Given the description of an element on the screen output the (x, y) to click on. 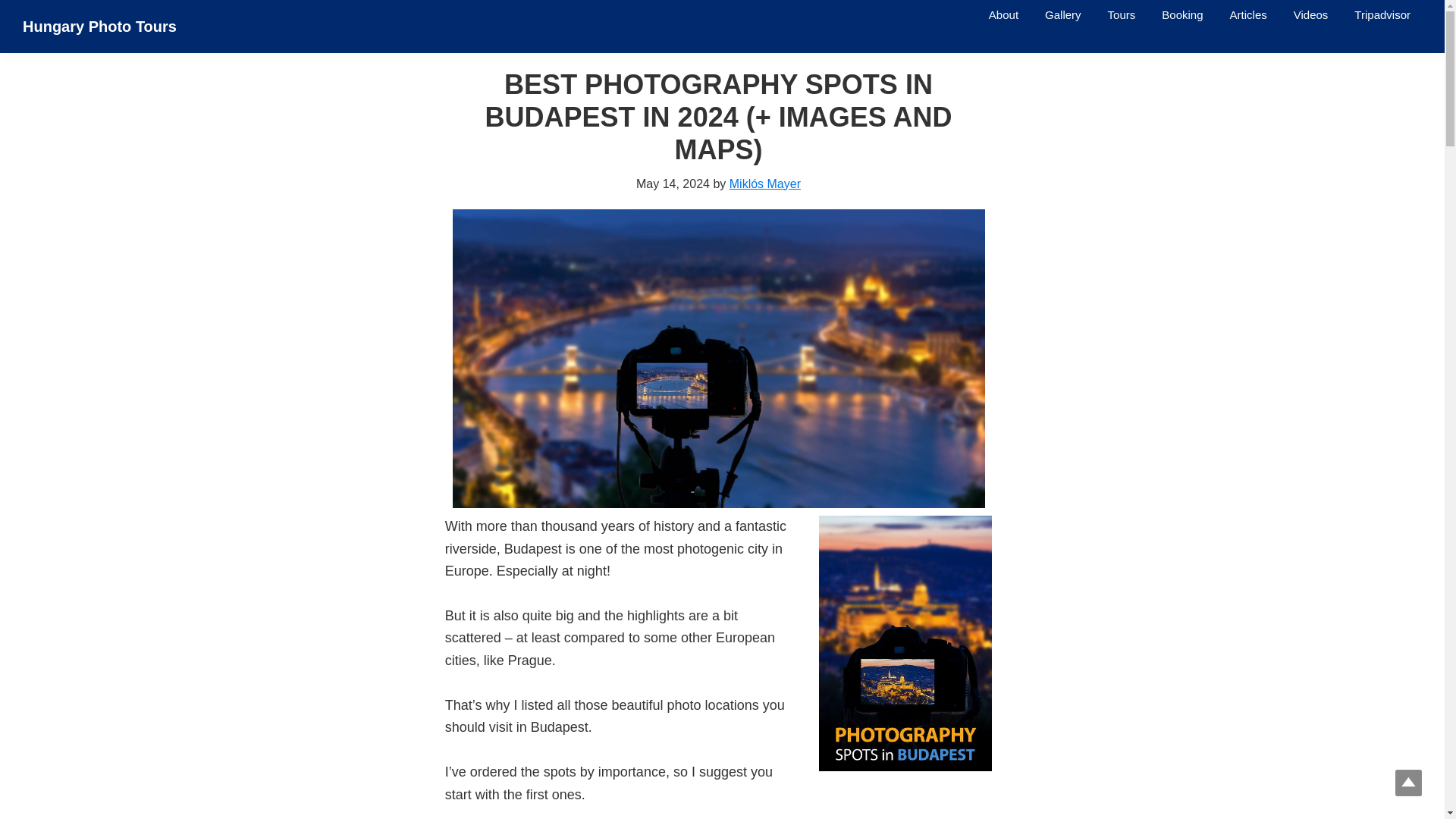
Articles (1248, 14)
Tours (1121, 14)
Hungary Photo Tours (99, 26)
Scroll to Top (1408, 782)
Tripadvisor (1382, 14)
Gallery (1063, 14)
Videos (1310, 14)
Booking (1182, 14)
About (1002, 14)
